Given the description of an element on the screen output the (x, y) to click on. 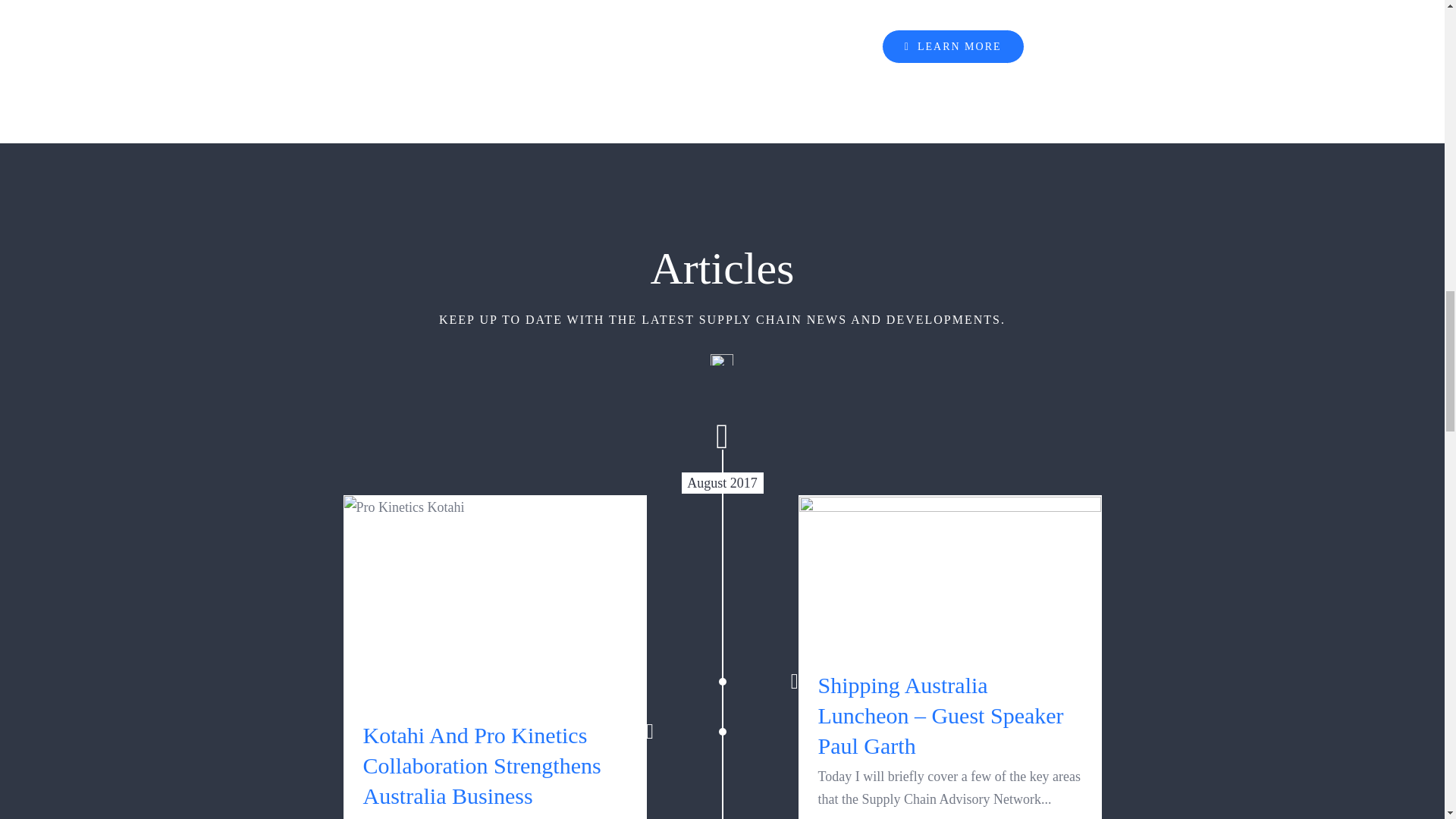
divide (721, 358)
LEARN MORE (953, 46)
